Given the description of an element on the screen output the (x, y) to click on. 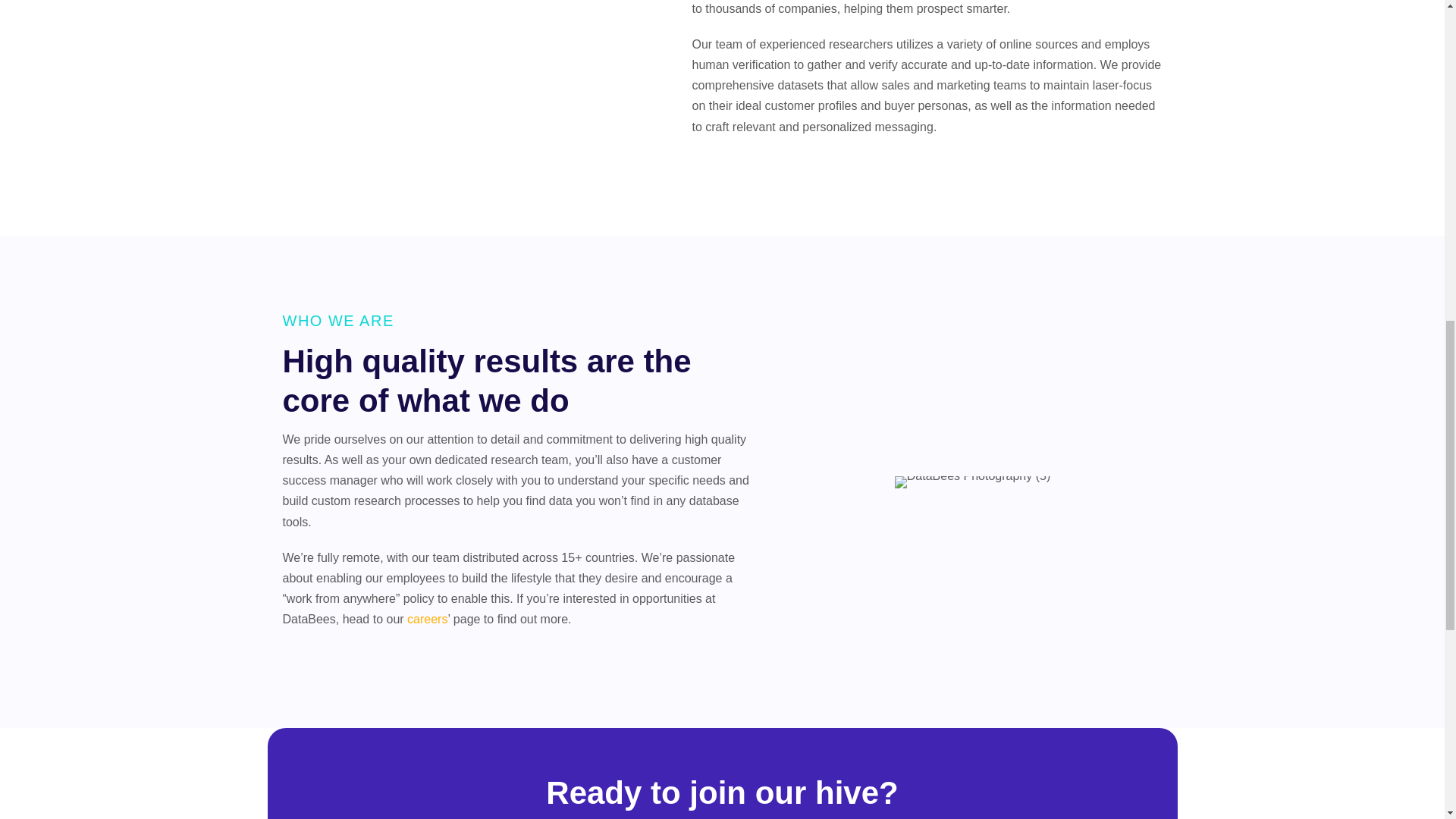
careers (426, 618)
